Given the description of an element on the screen output the (x, y) to click on. 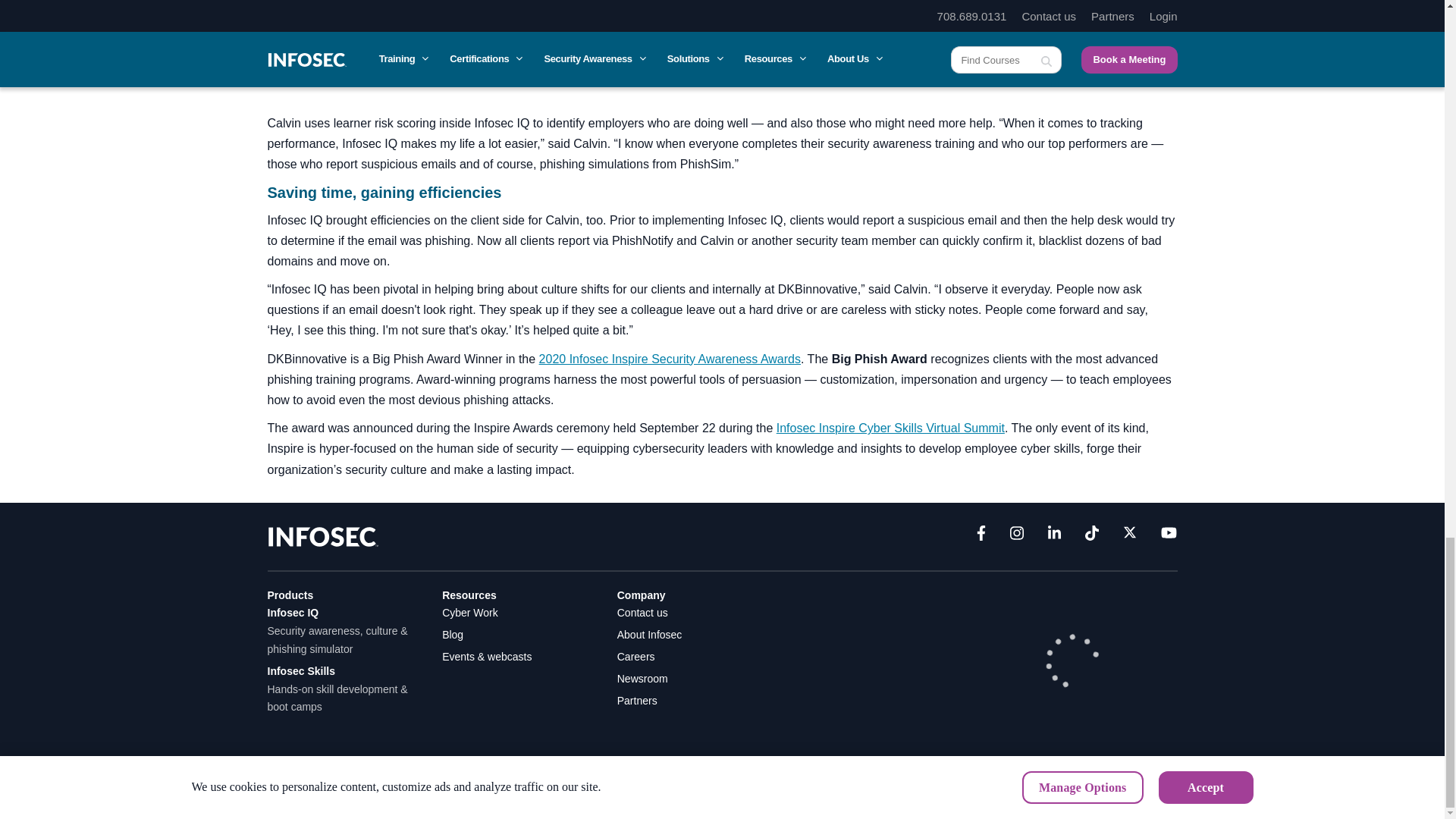
Blog (452, 634)
Cyber Work (469, 612)
X (1129, 535)
Infosec (322, 535)
Contact us (642, 612)
TikTok (1091, 535)
LinkedIn (1054, 535)
YouTube (1168, 535)
Instagram (1016, 535)
